Given the description of an element on the screen output the (x, y) to click on. 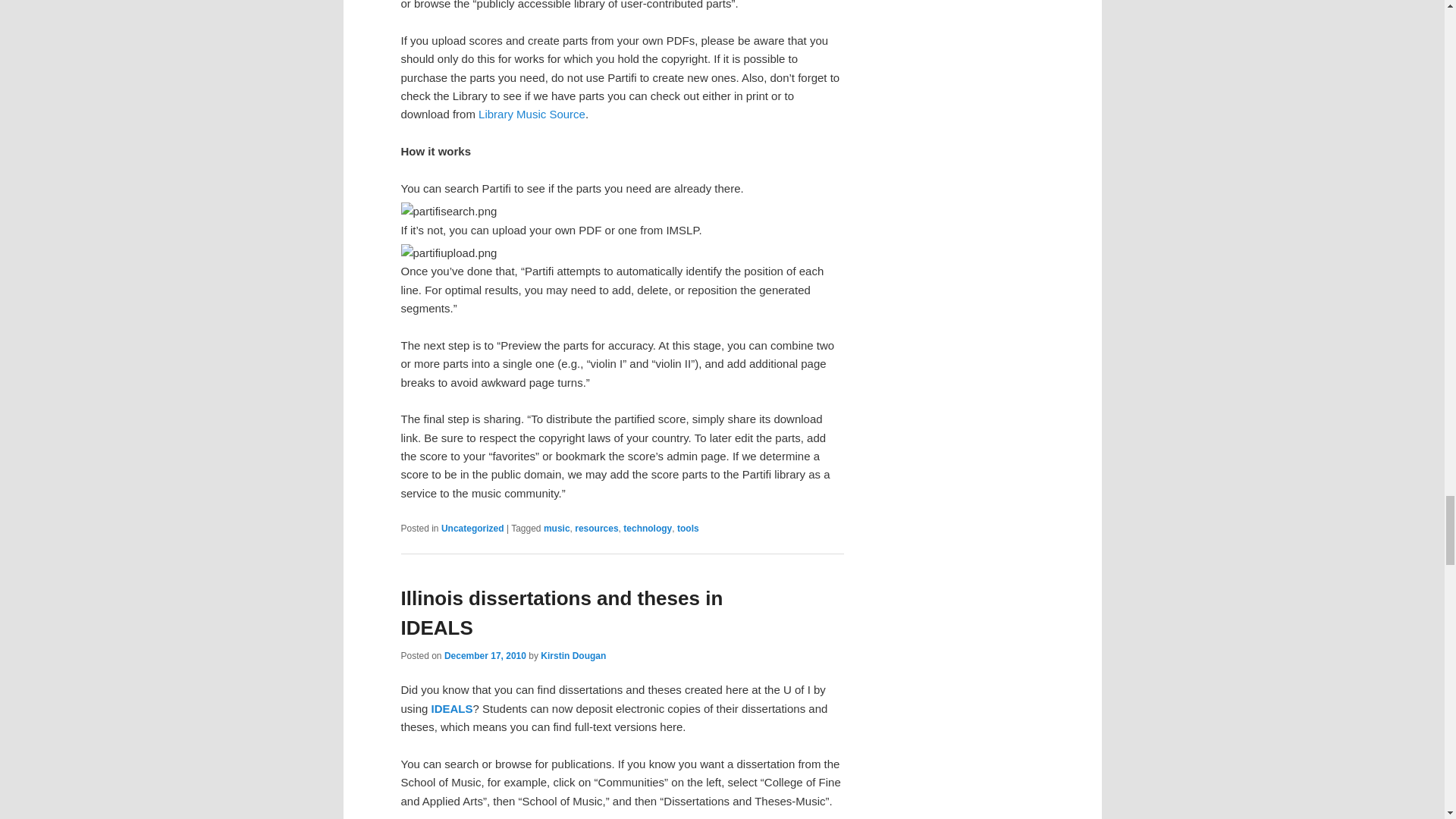
View all posts by Kirstin Dougan (572, 655)
1:20 pm (484, 655)
